Given the description of an element on the screen output the (x, y) to click on. 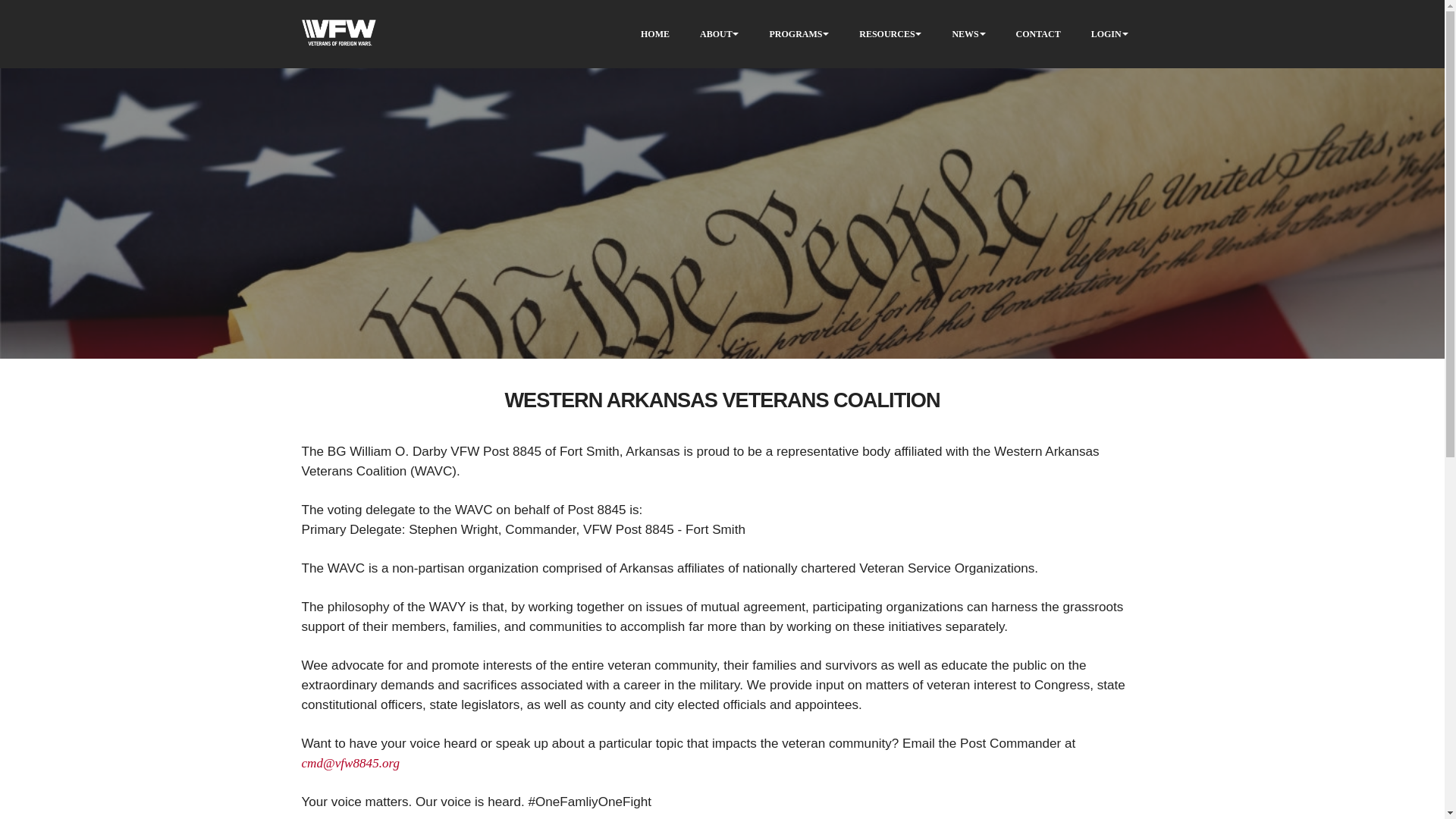
PROGRAMS (795, 33)
ABOUT (716, 33)
CDR Email (350, 762)
NEWS (965, 33)
HOME (654, 33)
RESOURCES (886, 33)
Veterans of Foreign Wars (338, 34)
